Given the description of an element on the screen output the (x, y) to click on. 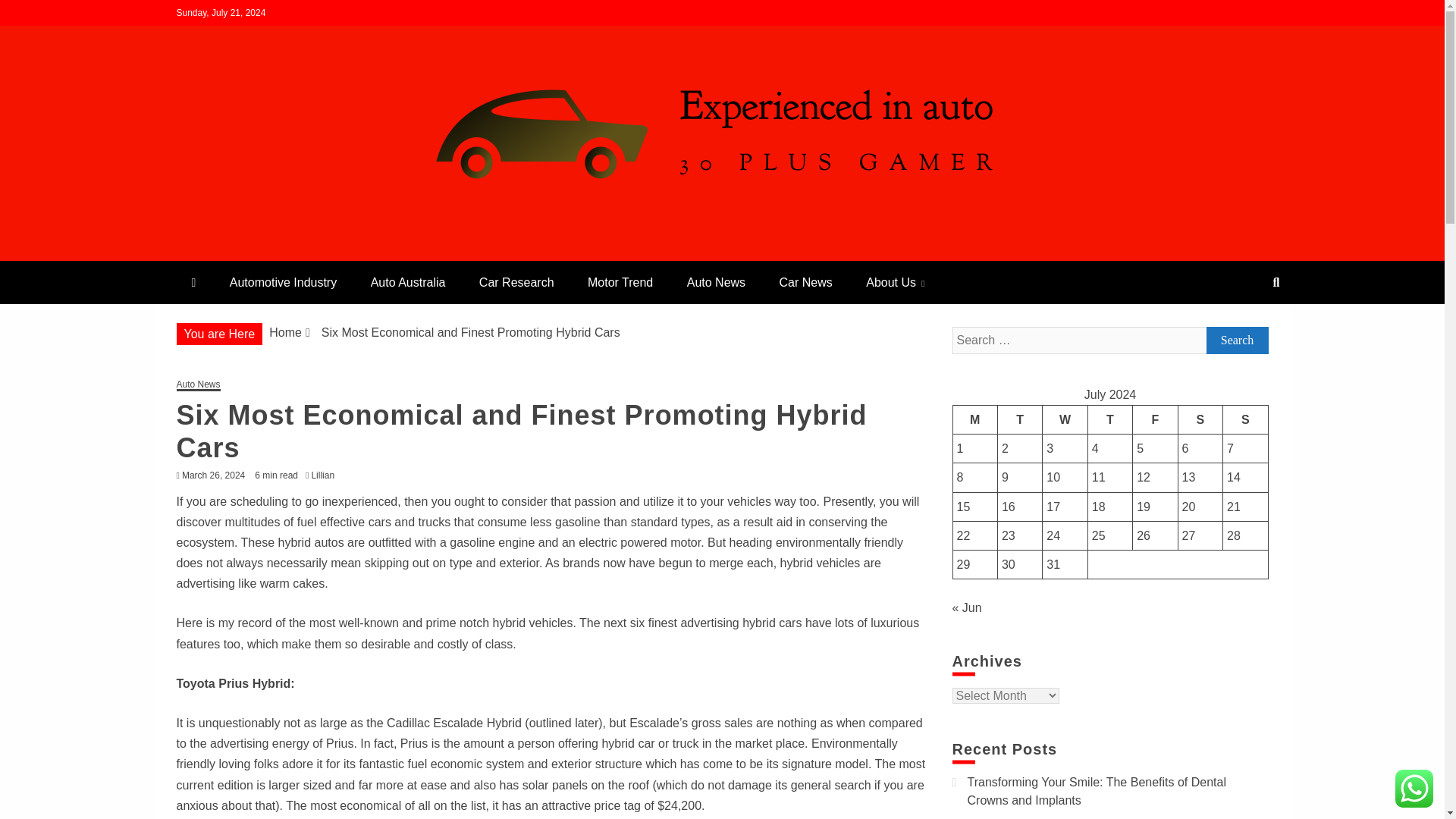
Car Research (516, 282)
Tuesday (1019, 419)
Thursday (1109, 419)
Motor Trend (620, 282)
30 Plus Gamer (275, 254)
Monday (974, 419)
Lillian (326, 475)
Automotive Industry (283, 282)
Car News (805, 282)
About Us (894, 282)
Auto News (715, 282)
Search (1236, 339)
Search (31, 13)
Sunday (1245, 419)
Wednesday (1064, 419)
